Given the description of an element on the screen output the (x, y) to click on. 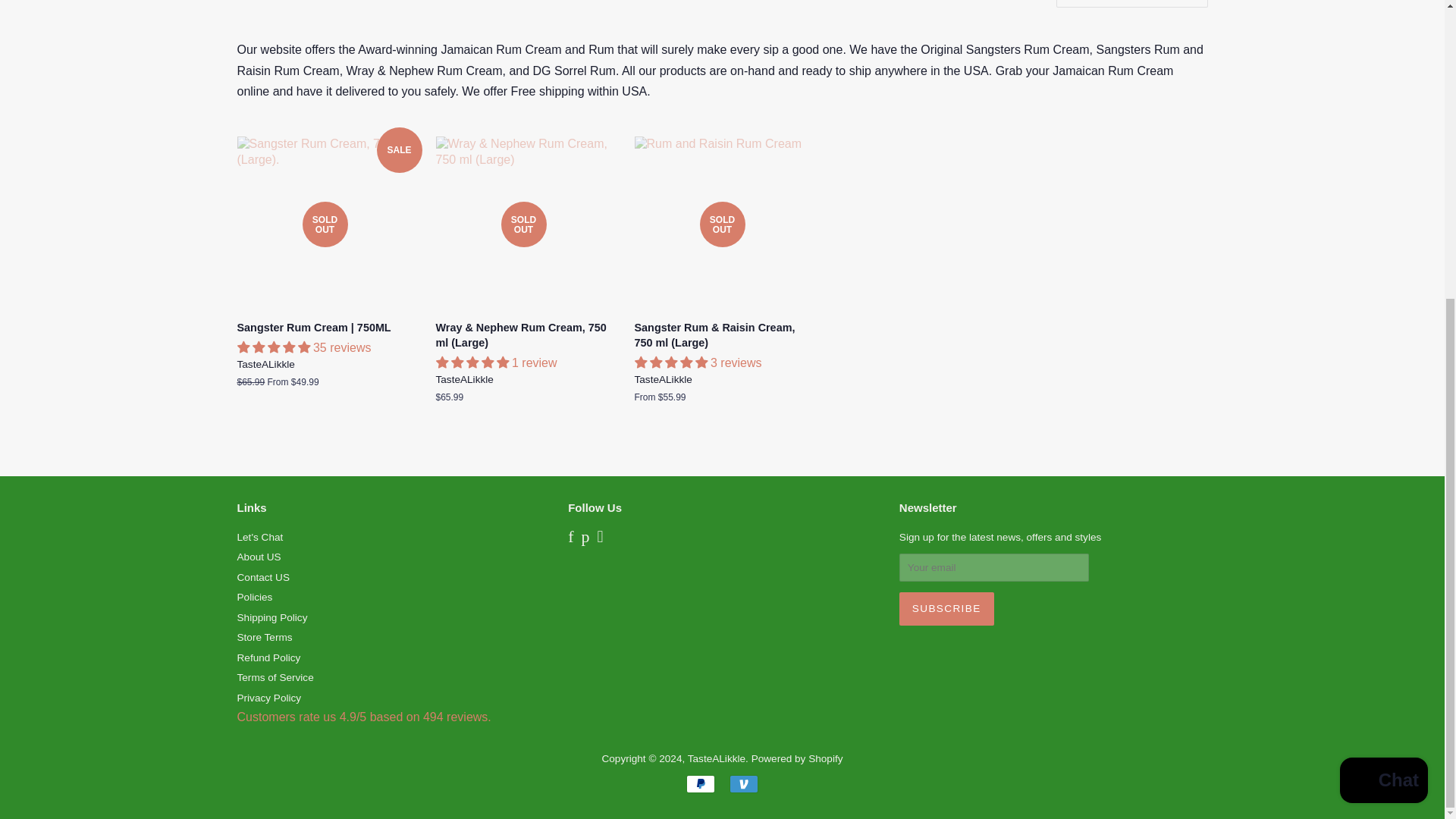
About US (258, 556)
Terms of Service (274, 677)
Policies (253, 596)
Shopify online store chat (1383, 319)
Shipping Policy (271, 617)
PayPal (699, 783)
TasteALikkle (716, 758)
Venmo (743, 783)
Subscribe (946, 608)
Powered by Shopify (797, 758)
Contact US (262, 577)
Store Terms (263, 636)
Privacy Policy (268, 697)
Let's Chat (258, 536)
Subscribe (946, 608)
